Given the description of an element on the screen output the (x, y) to click on. 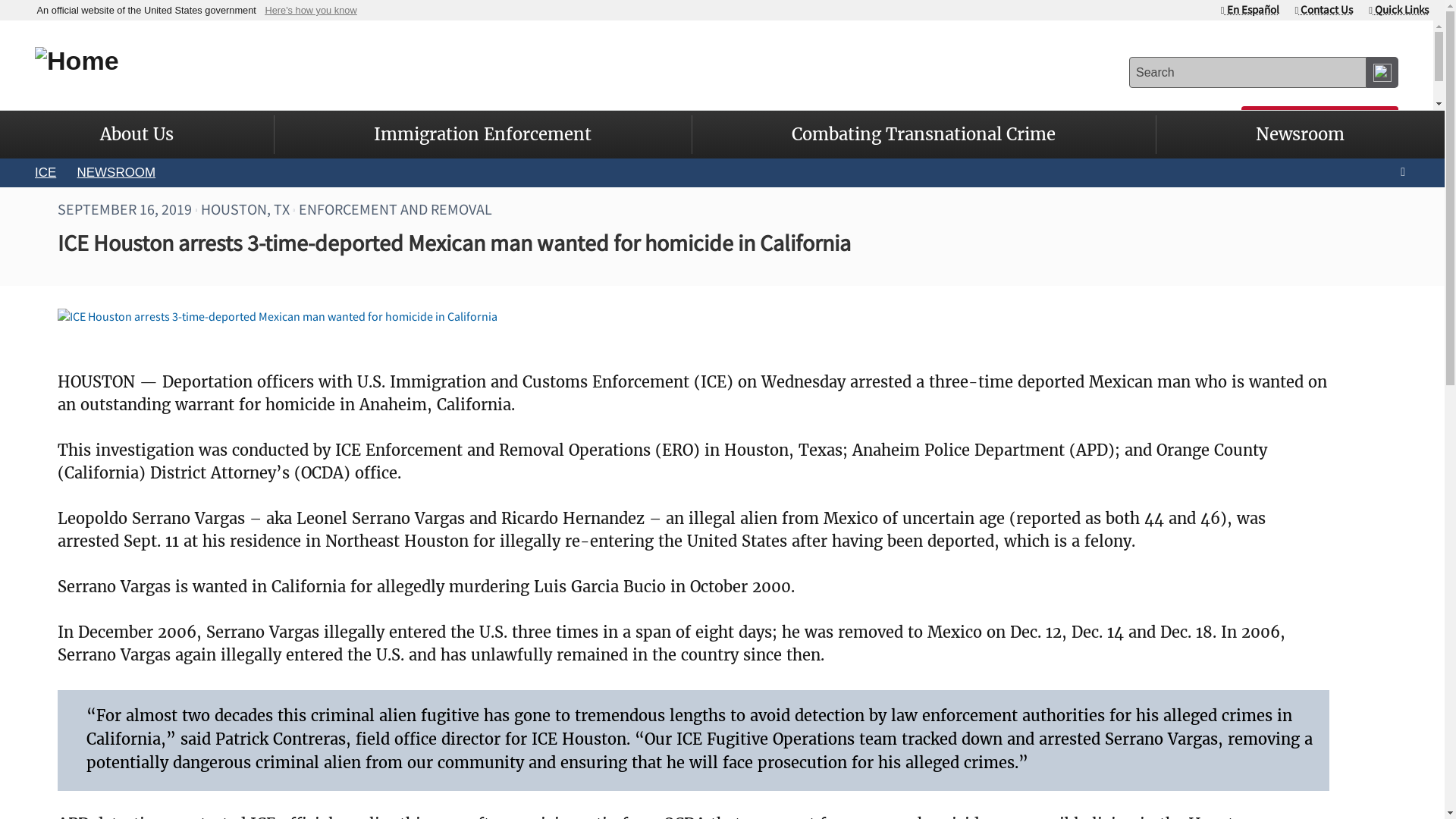
Report Crime (1319, 120)
1-866-DHS-2-ICE (981, 119)
Quick Links (1398, 9)
Contact Us (1324, 9)
About Us (136, 134)
Enter the terms you wish to search for. (1248, 71)
Combating Transnational Crime (923, 134)
Here's how you know (310, 9)
Click to search ICE.gov (1382, 71)
Immigration Enforcement (482, 134)
